Given the description of an element on the screen output the (x, y) to click on. 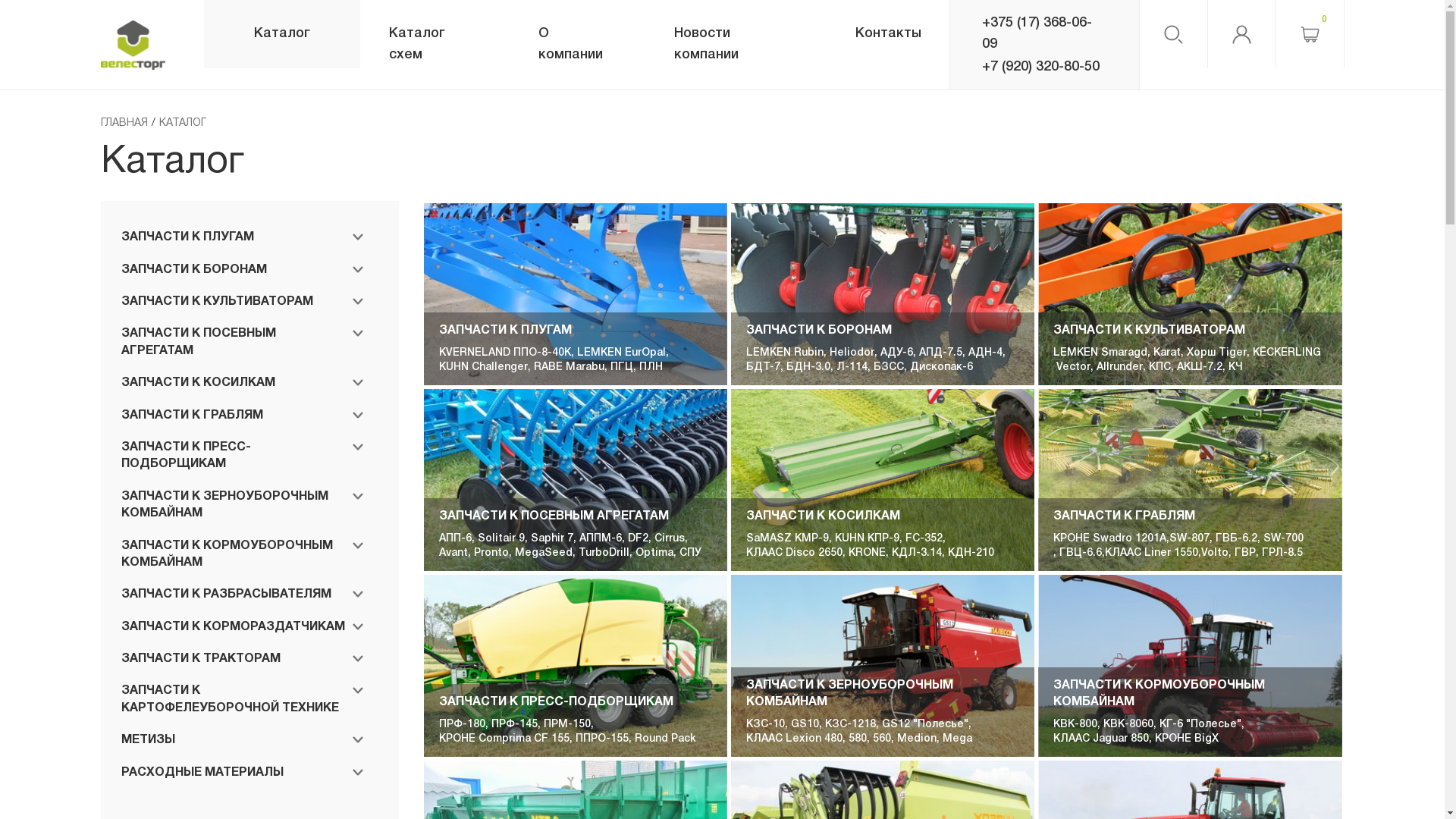
 Vector Element type: text (1071, 367)
LEMKEN Smaragd Element type: text (1100, 352)
Karat Element type: text (1166, 352)
+375 (17) 368-06-09 Element type: text (1044, 33)
LEMKEN EurOpal Element type: text (621, 352)
TurboDrill Element type: text (603, 553)
+7 (920) 320-80-50 Element type: text (1044, 66)
Cirrus Element type: text (669, 538)
Heliodor Element type: text (851, 352)
RABE Marabu Element type: text (568, 367)
Avant Element type: text (453, 553)
Saphir 7 Element type: text (551, 538)
Allrunder Element type: text (1119, 367)
DF2 Element type: text (637, 538)
Volto Element type: text (1214, 553)
KUHN Challenger Element type: text (483, 367)
Optima Element type: text (654, 553)
MegaSeed Element type: text (543, 553)
FC-352 Element type: text (923, 538)
LEMKEN Rubin Element type: text (784, 352)
Pronto Element type: text (490, 553)
